Given the description of an element on the screen output the (x, y) to click on. 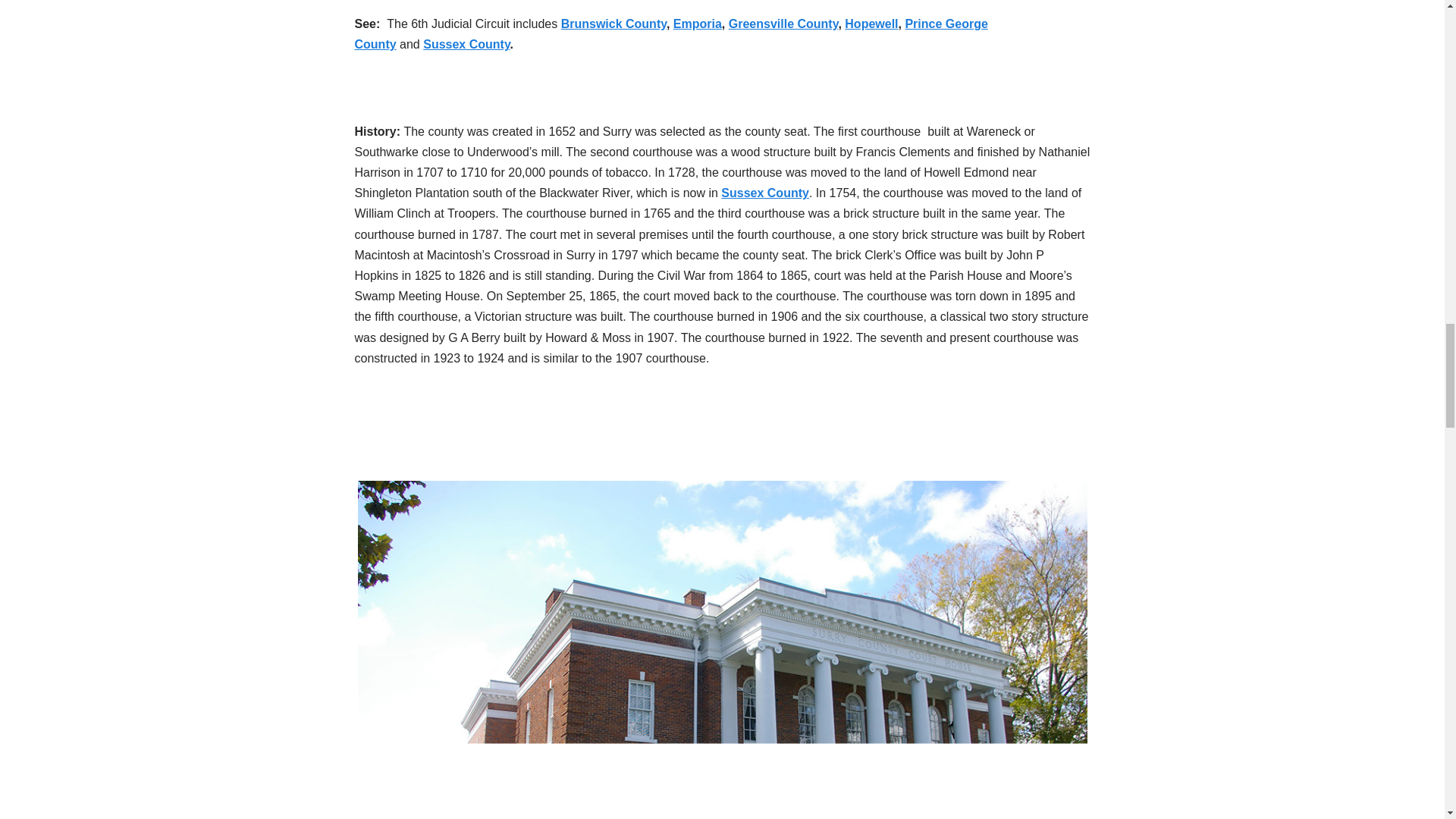
Prince George County (671, 33)
Sussex County (466, 43)
Brunswick County (613, 23)
Sussex County (764, 192)
Greensville County (783, 23)
